Given the description of an element on the screen output the (x, y) to click on. 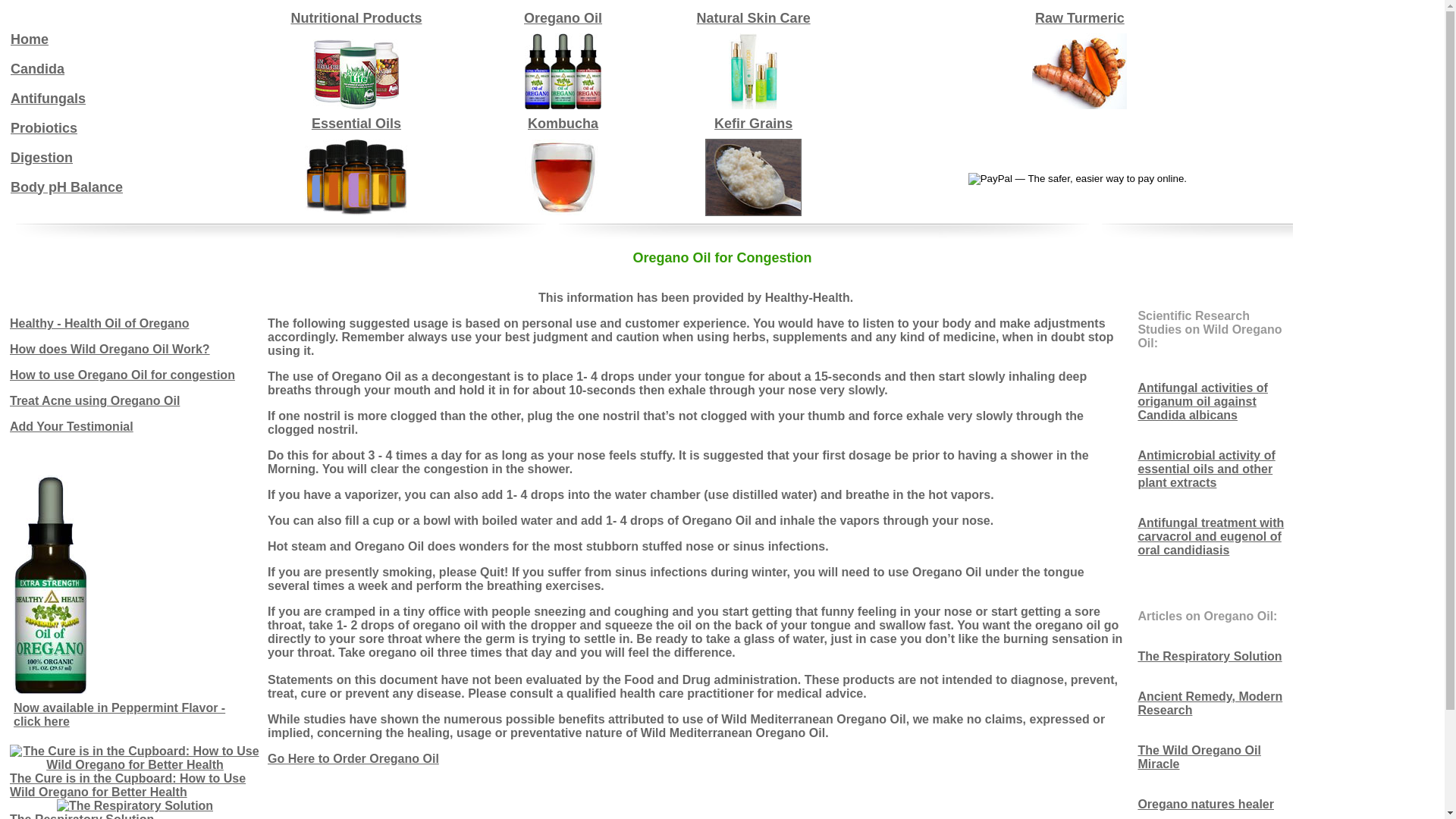
Go Here to Order Oregano Oil Element type: text (353, 758)
The Respiratory Solution Element type: text (1209, 655)
Kombucha Element type: text (562, 123)
Digestion Element type: text (41, 157)
Treat Acne using Oregano Oil Element type: text (94, 400)
Natural Skin Care Element type: text (753, 17)
Oregano Oil Element type: text (563, 17)
Probiotics Element type: text (43, 126)
How to use Oregano Oil for congestion Element type: text (122, 374)
Home Element type: text (29, 39)
Body pH Balance Element type: text (66, 186)
Oregano natures healer Element type: text (1205, 803)
Antifungals Element type: text (47, 98)
The Wild Oregano Oil Miracle Element type: text (1199, 756)
Add Your Testimonial Element type: text (71, 426)
Candida Element type: text (37, 67)
Essential Oils Element type: text (356, 123)
Ancient Remedy, Modern Research Element type: text (1209, 703)
How does Wild Oregano Oil Work? Element type: text (109, 348)
Now available in Peppermint Flavor - click here Element type: text (119, 714)
Healthy - Health Oil of Oregano Element type: text (98, 322)
Kefir Grains Element type: text (753, 123)
Nutritional Products Element type: text (355, 17)
Raw Turmeric Element type: text (1079, 17)
